Given the description of an element on the screen output the (x, y) to click on. 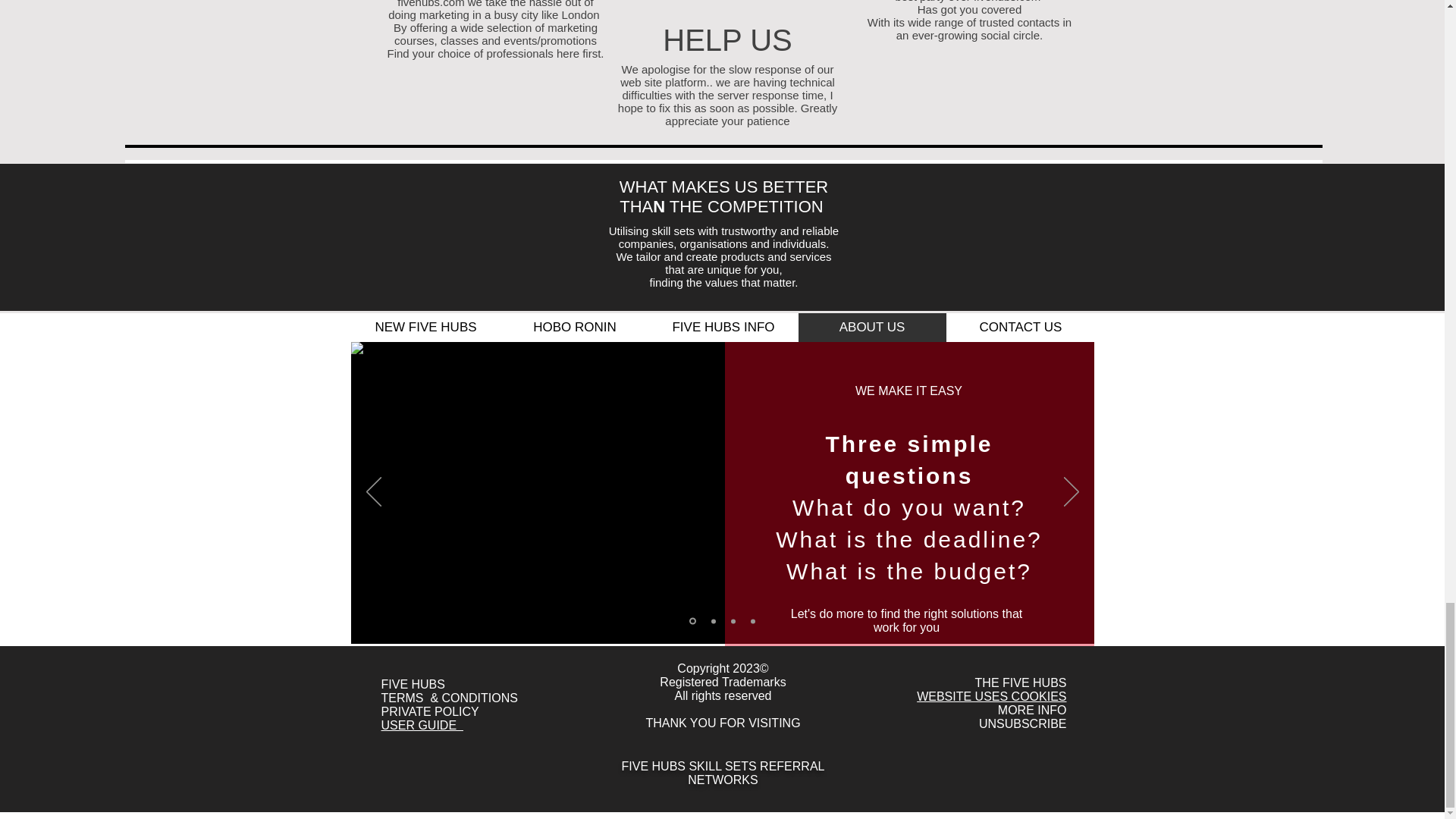
WEBSITE USES COOKIES (991, 696)
CONTACT US (1020, 327)
ABOUT US (871, 327)
NEW FIVE HUBS (426, 327)
HOBO RONIN (574, 327)
USER GUIDE   (421, 725)
FIVE HUBS INFO (723, 327)
